Given the description of an element on the screen output the (x, y) to click on. 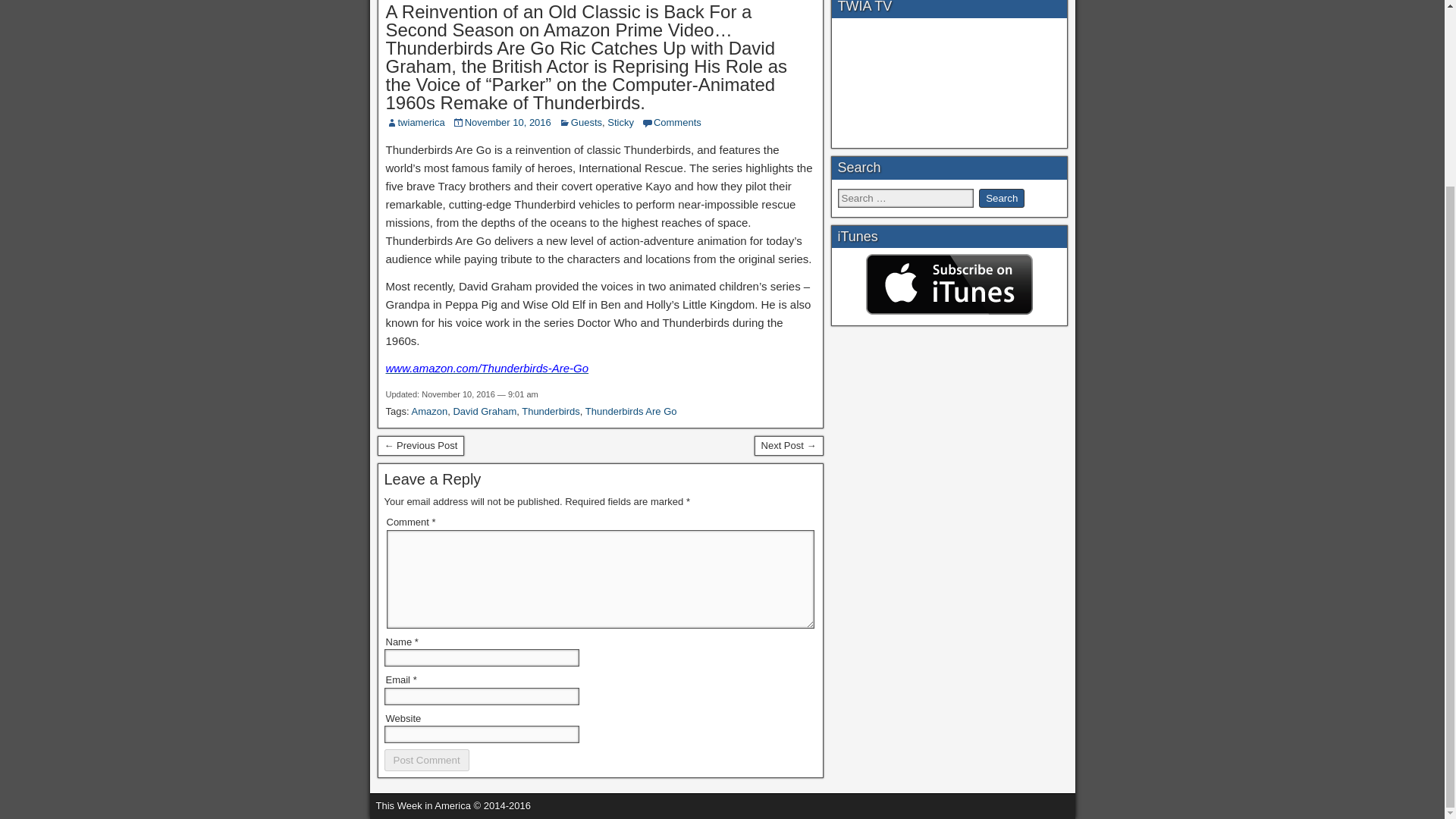
Sticky (620, 122)
Search (1001, 198)
Thunderbirds (550, 410)
Thunderbirds Are Go (631, 410)
November 10, 2016 (507, 122)
Guests (586, 122)
Search (1001, 198)
Amazon (428, 410)
David Graham (484, 410)
twiamerica (420, 122)
